Given the description of an element on the screen output the (x, y) to click on. 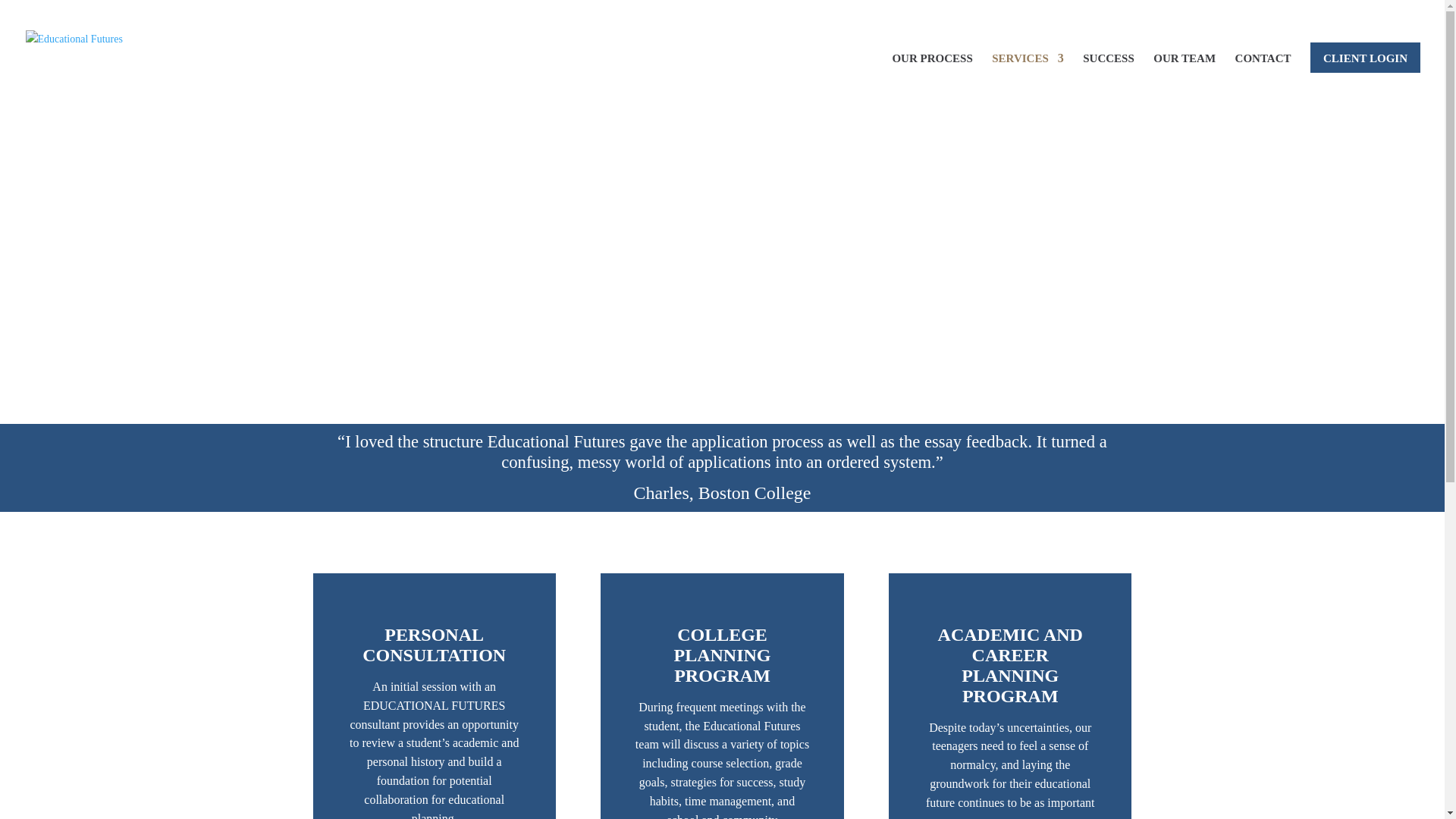
OUR TEAM (1184, 79)
OUR PROCESS (931, 79)
SUCCESS (1108, 79)
SERVICES (1027, 79)
CLIENT LOGIN (1365, 56)
CONTACT (1262, 79)
